Given the description of an element on the screen output the (x, y) to click on. 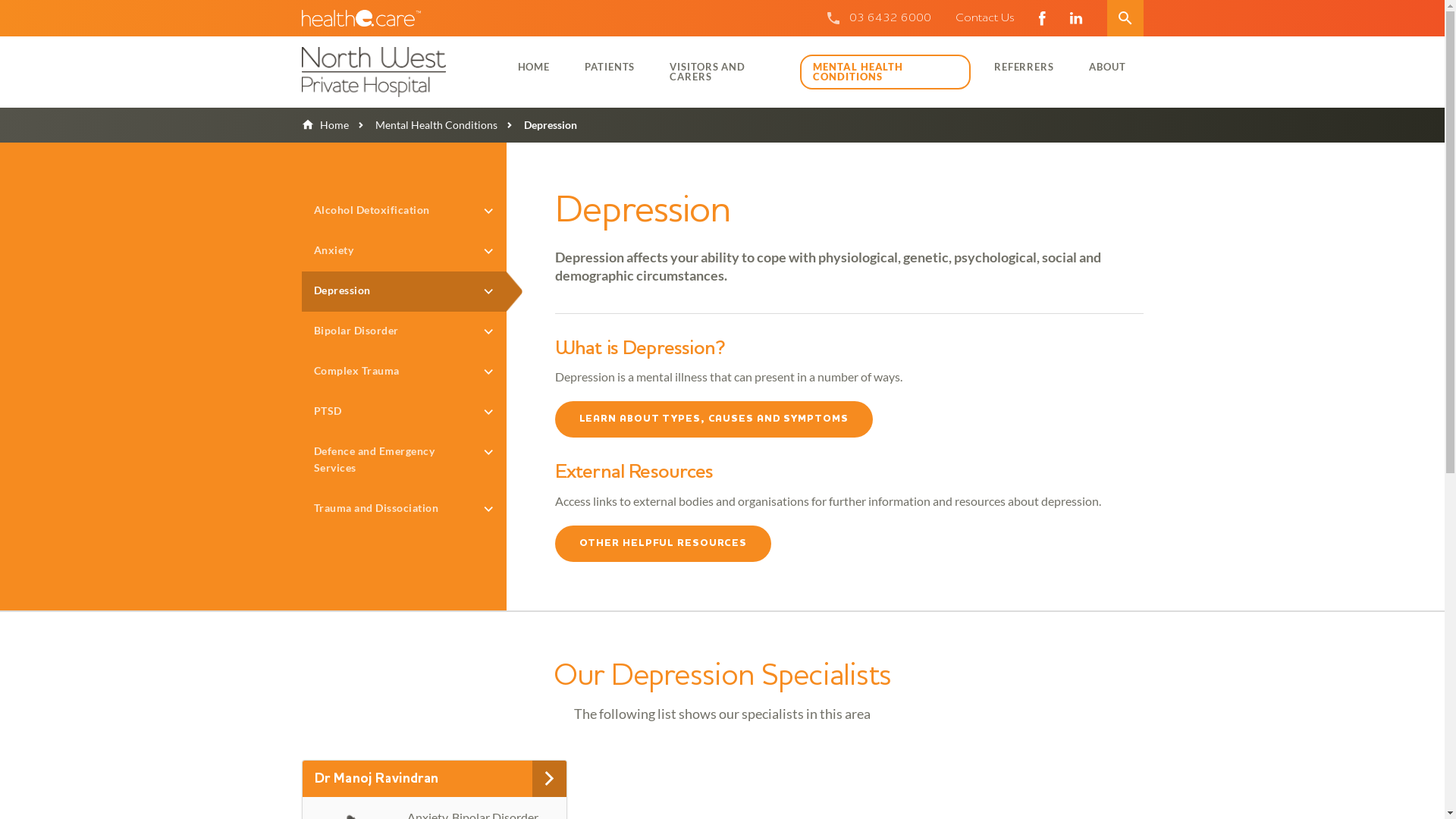
PATIENTS Element type: text (609, 66)
North West Private Mental Health Element type: text (394, 71)
HOME Element type: text (533, 66)
Defence and Emergency Services Element type: text (403, 460)
Facebook page - North-West-Private-Hospital-375897199540944 Element type: text (1041, 17)
Contact Us Element type: text (984, 18)
Bipolar Disorder Element type: text (403, 331)
Alcohol Detoxification Element type: text (403, 211)
Depression Element type: text (403, 291)
OTHER HELPFUL RESOURCES Element type: text (663, 543)
LEARN ABOUT TYPES, CAUSES AND SYMPTOMS Element type: text (713, 419)
03 6432 6000 Element type: text (890, 18)
PTSD Element type: text (403, 412)
Home Element type: text (324, 124)
REFERRERS Element type: text (1023, 66)
VISITORS AND CARERS Element type: text (722, 71)
ABOUT Element type: text (1107, 66)
Anxiety Element type: text (403, 251)
MENTAL HEALTH CONDITIONS
(CURRENT) Element type: text (884, 71)
Trauma and Dissociation Element type: text (403, 509)
Complex Trauma Element type: text (403, 371)
Mental Health Conditions Element type: text (422, 124)
LinkedIn - 292626 Element type: text (1075, 18)
